Given the description of an element on the screen output the (x, y) to click on. 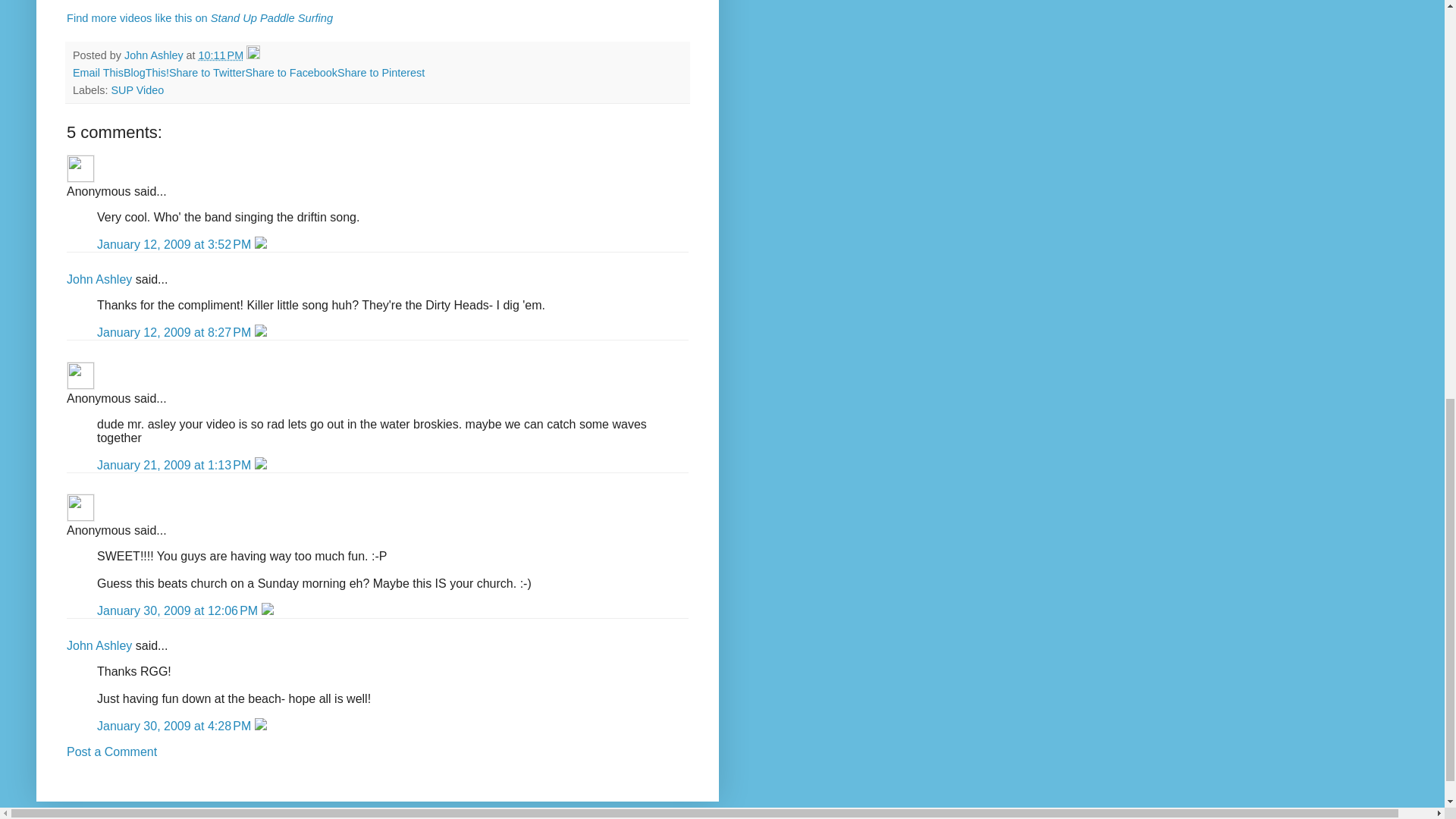
Delete Comment (260, 332)
Delete Comment (260, 244)
Share to Twitter (207, 72)
comment permalink (175, 244)
BlogThis! (145, 72)
permanent link (221, 55)
BlogThis! (145, 72)
John Ashley (99, 645)
John Ashley (99, 278)
